Given the description of an element on the screen output the (x, y) to click on. 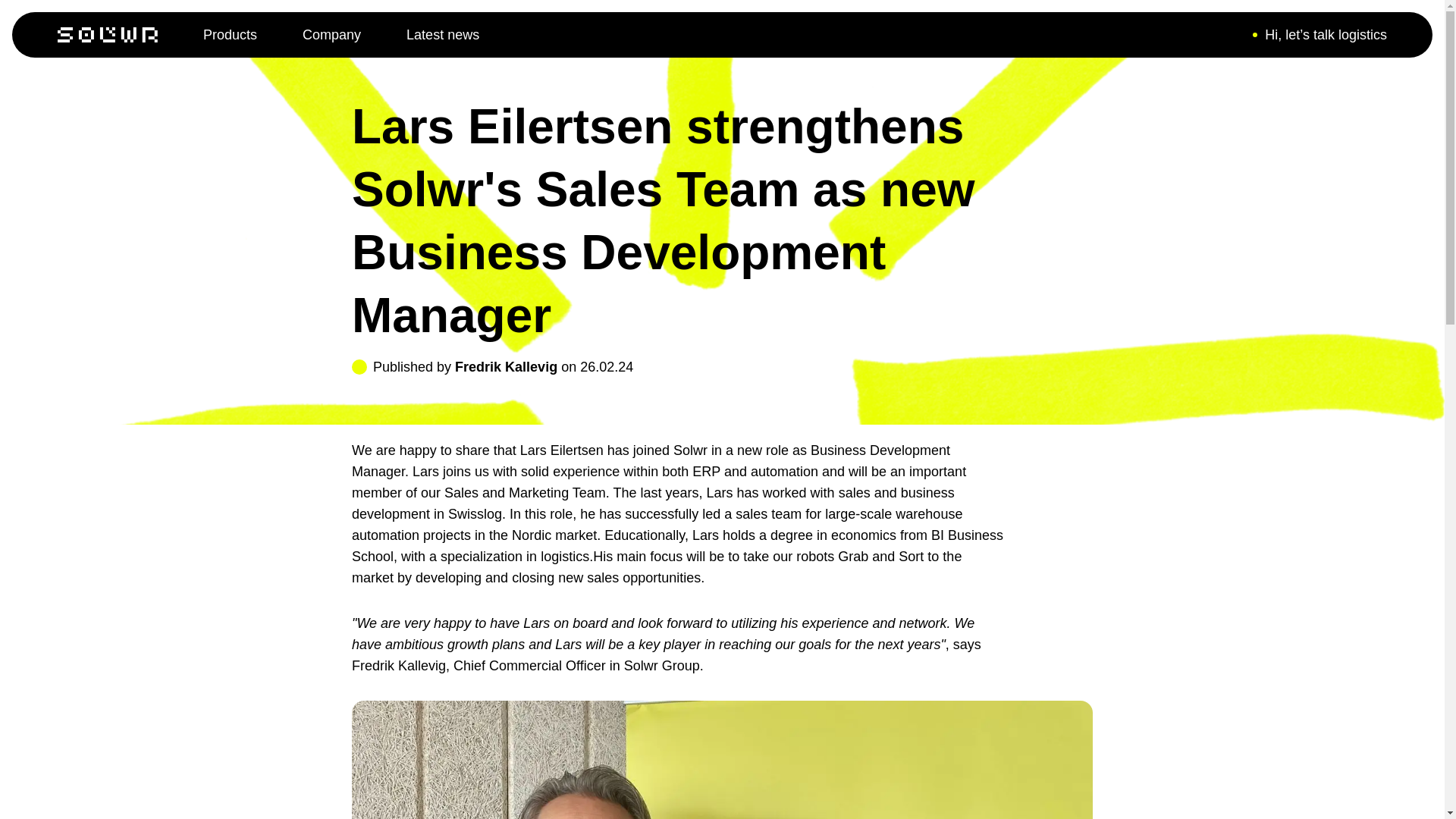
Latest news (442, 34)
Products (230, 34)
Company (331, 34)
